Given the description of an element on the screen output the (x, y) to click on. 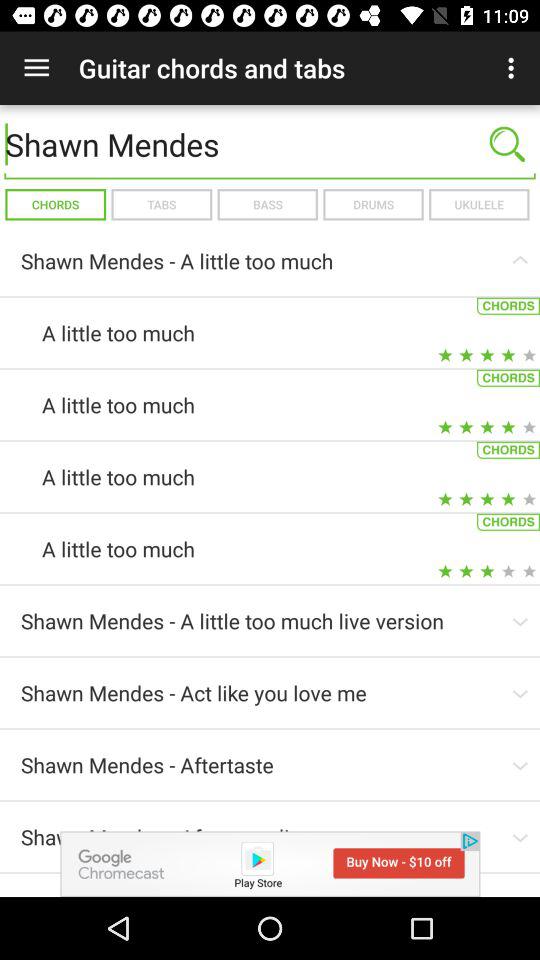
choose the item below shawn mendes icon (478, 204)
